Given the description of an element on the screen output the (x, y) to click on. 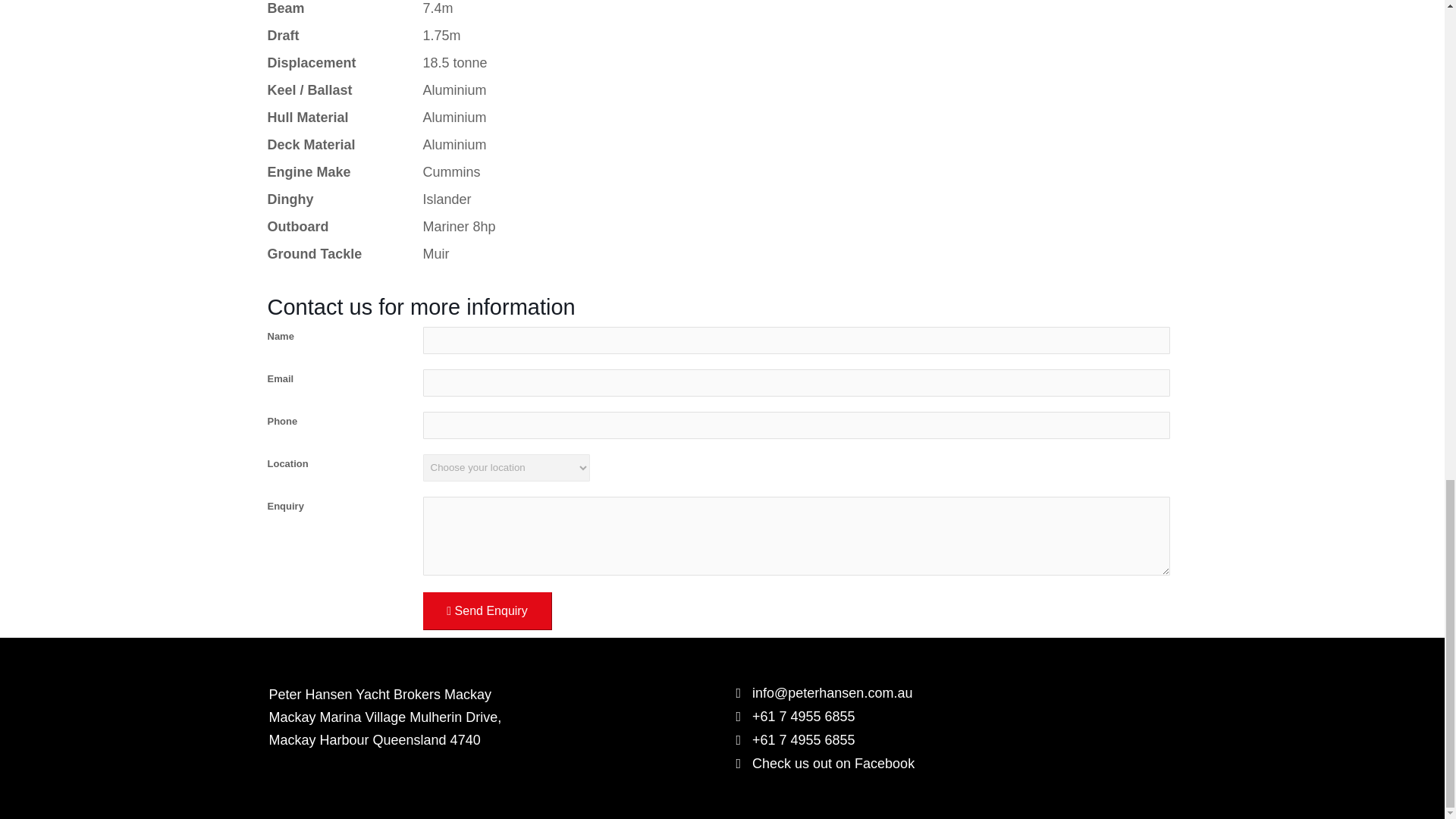
Send Enquiry (487, 610)
Check us out on Facebook (951, 763)
